Given the description of an element on the screen output the (x, y) to click on. 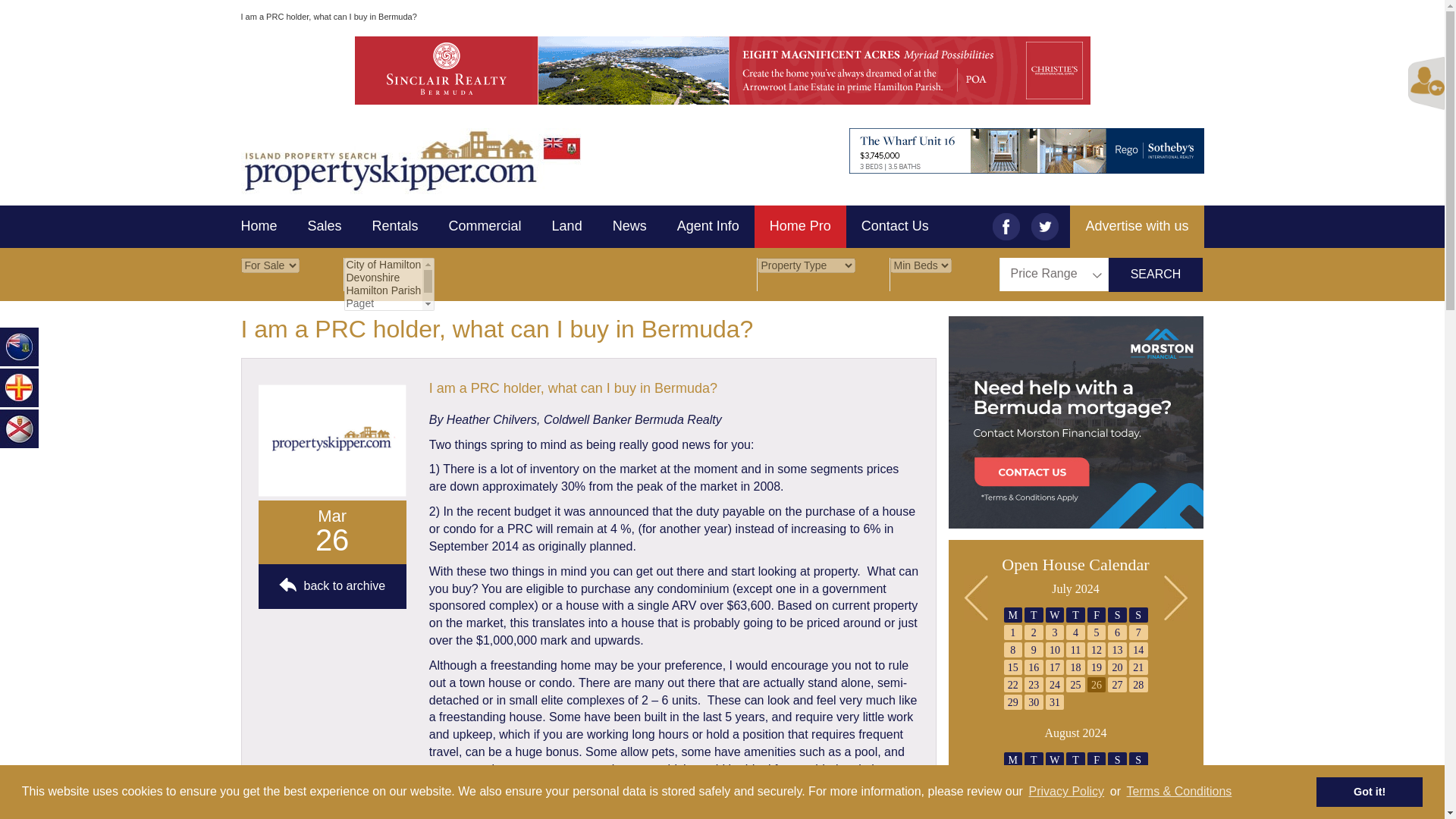
News (629, 226)
Advertise with us (1137, 226)
British Virgin Islands Real Estate (19, 345)
Jersey Property (19, 427)
Property Type (805, 264)
Christies Sinclair Realty (721, 70)
Agent Info (708, 226)
Land (566, 226)
Contact Us (894, 226)
Privacy Policy (1066, 791)
Sales (324, 226)
Got it! (1369, 791)
Home (266, 226)
Min Beds (920, 264)
Rego Sotheby's International Realty (968, 150)
